Given the description of an element on the screen output the (x, y) to click on. 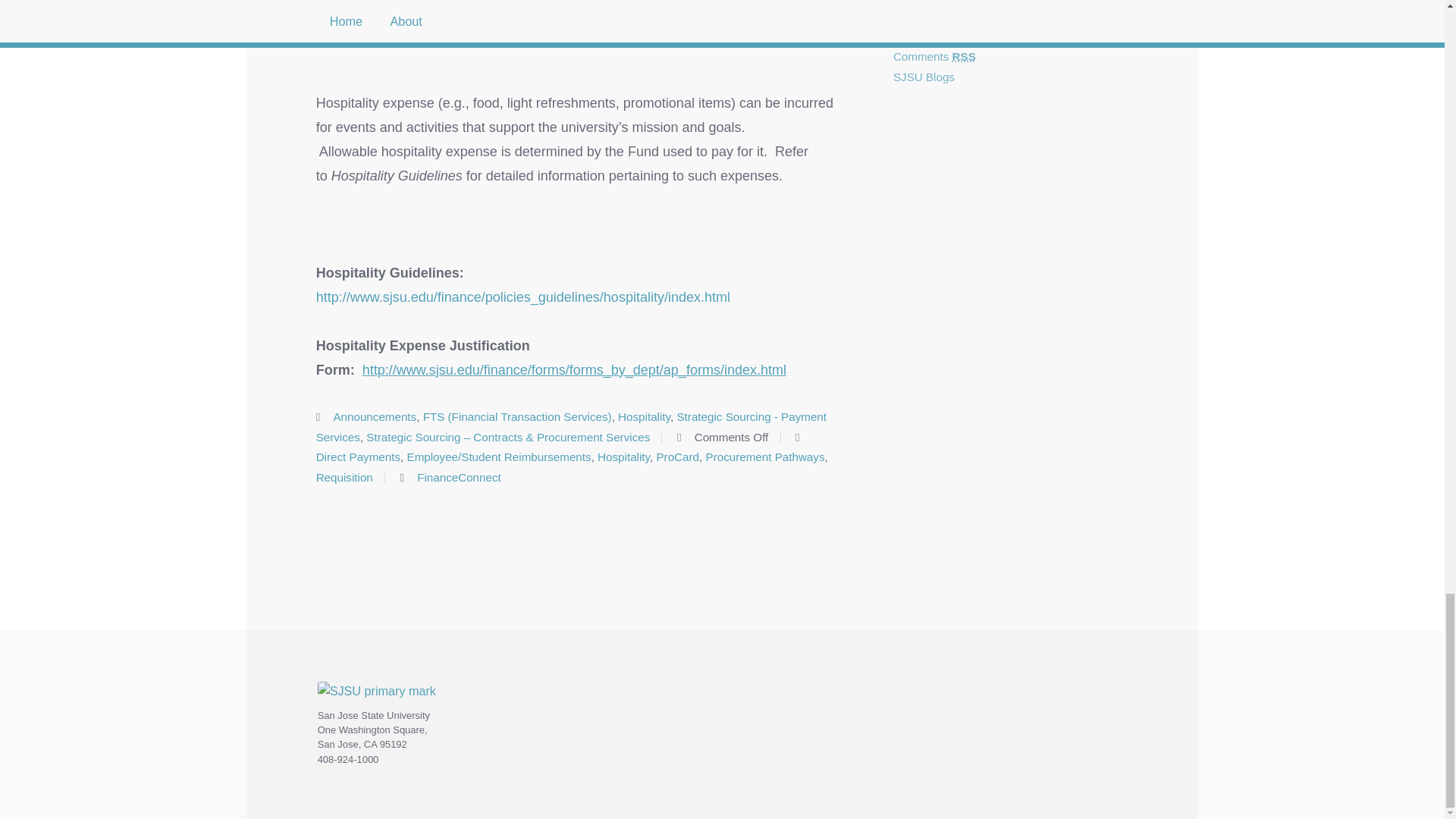
Syndicate this site using RSS 2.0 (924, 35)
Announcements (374, 416)
Really Simple Syndication (963, 56)
Posts by FinanceConnect (458, 477)
The latest comments to all posts in RSS (934, 56)
Really Simple Syndication (943, 35)
Powered by SJSU Blogs (924, 76)
